Given the description of an element on the screen output the (x, y) to click on. 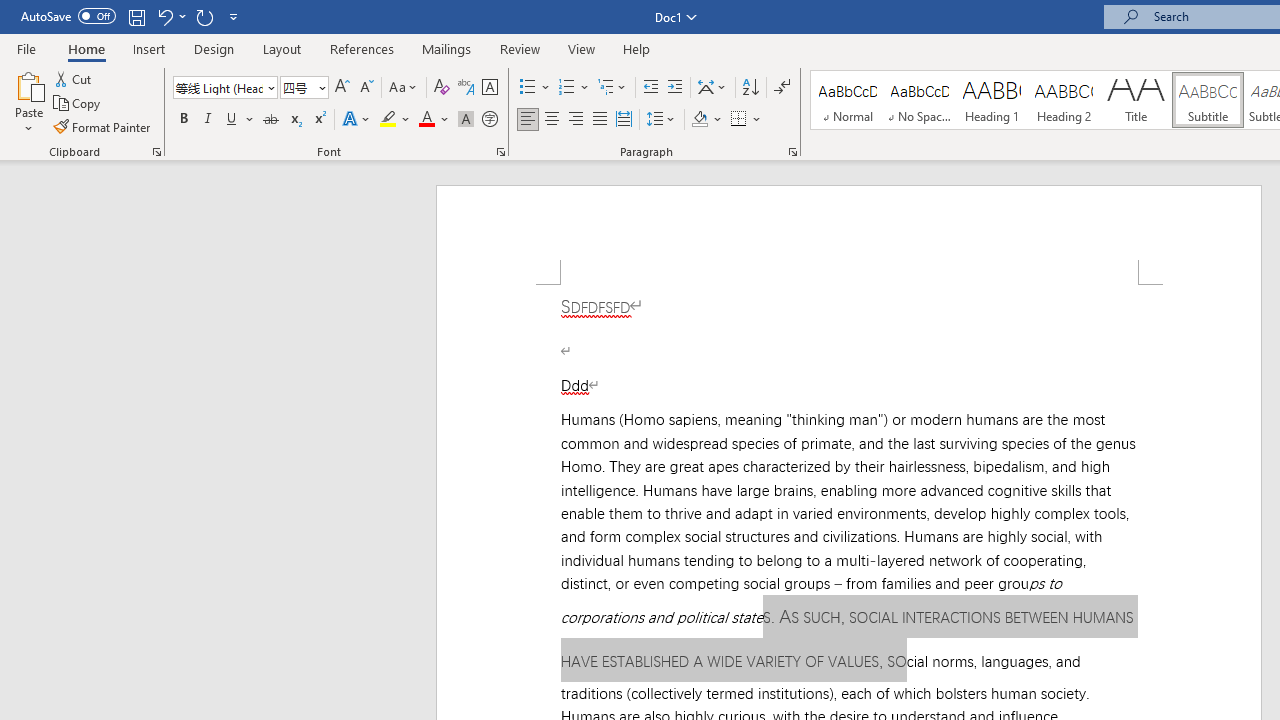
Undo Style (170, 15)
Line and Paragraph Spacing (661, 119)
Cut (73, 78)
Underline (232, 119)
Show/Hide Editing Marks (781, 87)
Distributed (623, 119)
Borders (739, 119)
Decrease Indent (650, 87)
Bold (183, 119)
Numbering (573, 87)
Bullets (535, 87)
Font Color (434, 119)
File Tab (26, 48)
Font (218, 87)
